Given the description of an element on the screen output the (x, y) to click on. 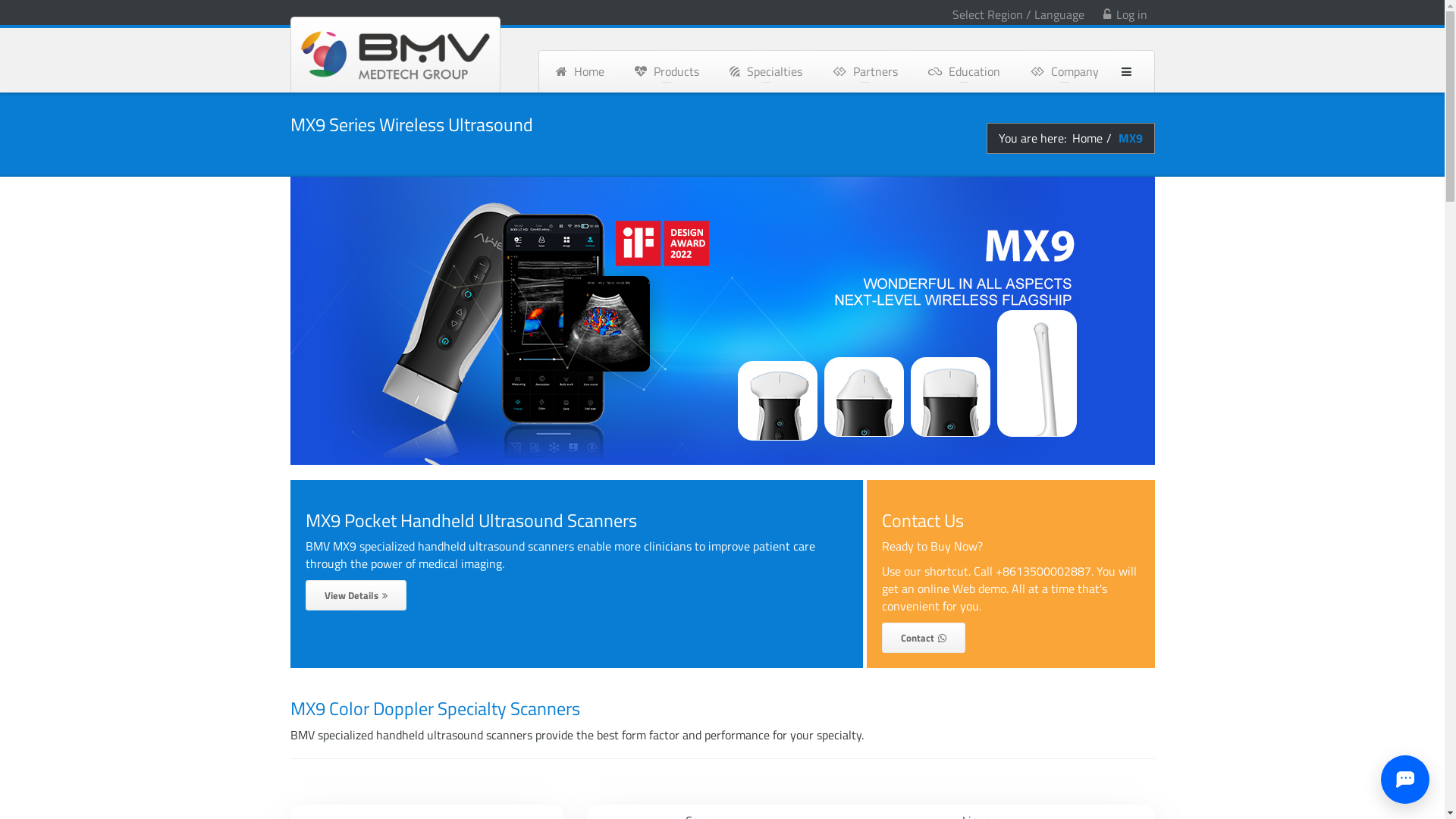
Specialties Element type: text (765, 71)
Home Element type: text (579, 71)
Open chat window Element type: hover (1404, 779)
Products Element type: text (665, 71)
Education Element type: text (964, 71)
Partners Element type: text (864, 71)
Select Region / Language Element type: text (1018, 14)
Home Element type: text (1087, 137)
Contact Element type: text (922, 637)
Company Element type: text (1063, 71)
View Details Element type: text (354, 595)
